Given the description of an element on the screen output the (x, y) to click on. 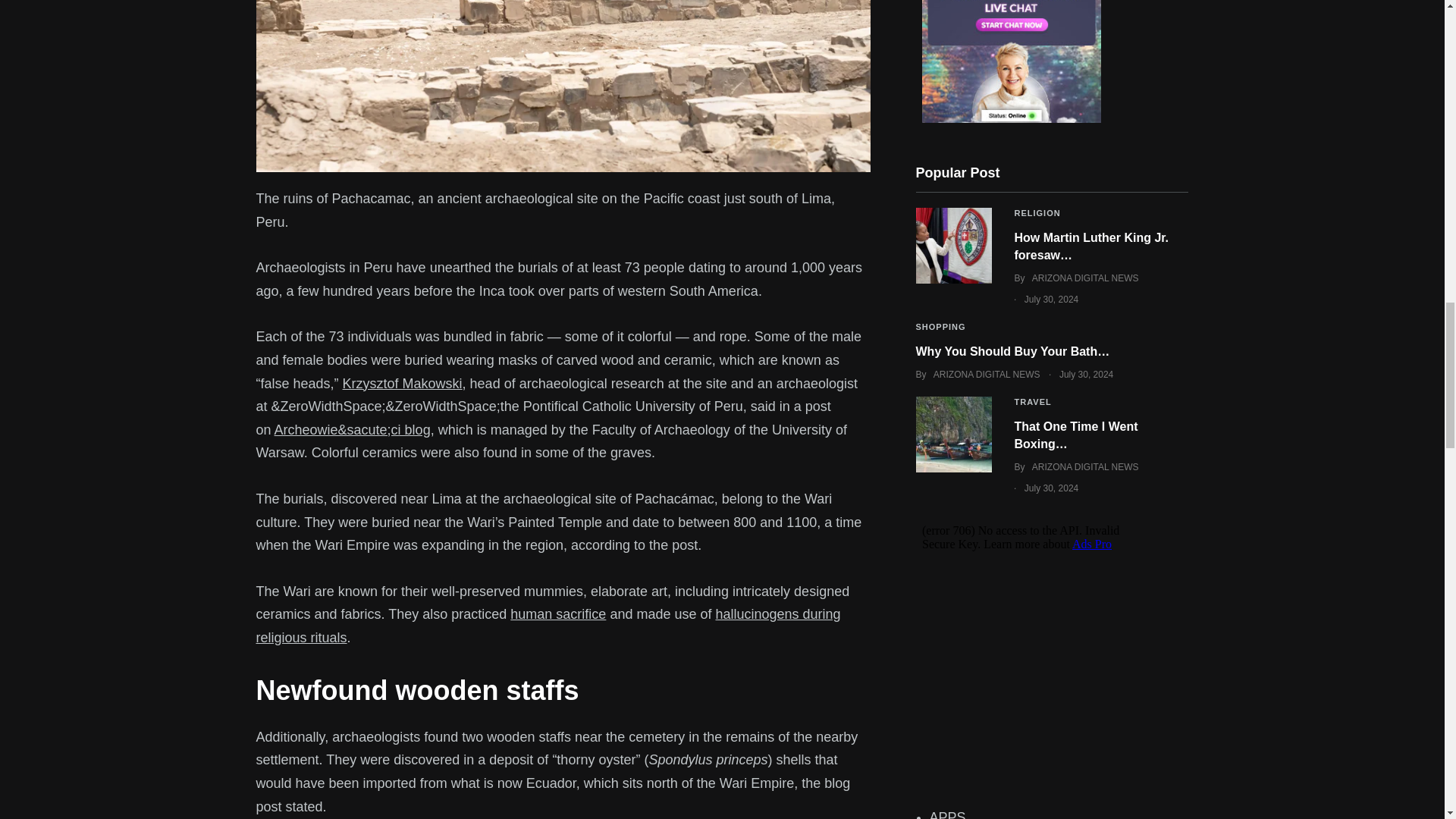
Posts by ARIZONA DIGITAL NEWS (1085, 466)
That One Time I Went Boxing on Ko Phi Phi (953, 434)
Posts by ARIZONA DIGITAL NEWS (1085, 277)
Posts by ARIZONA DIGITAL NEWS (987, 374)
